Given the description of an element on the screen output the (x, y) to click on. 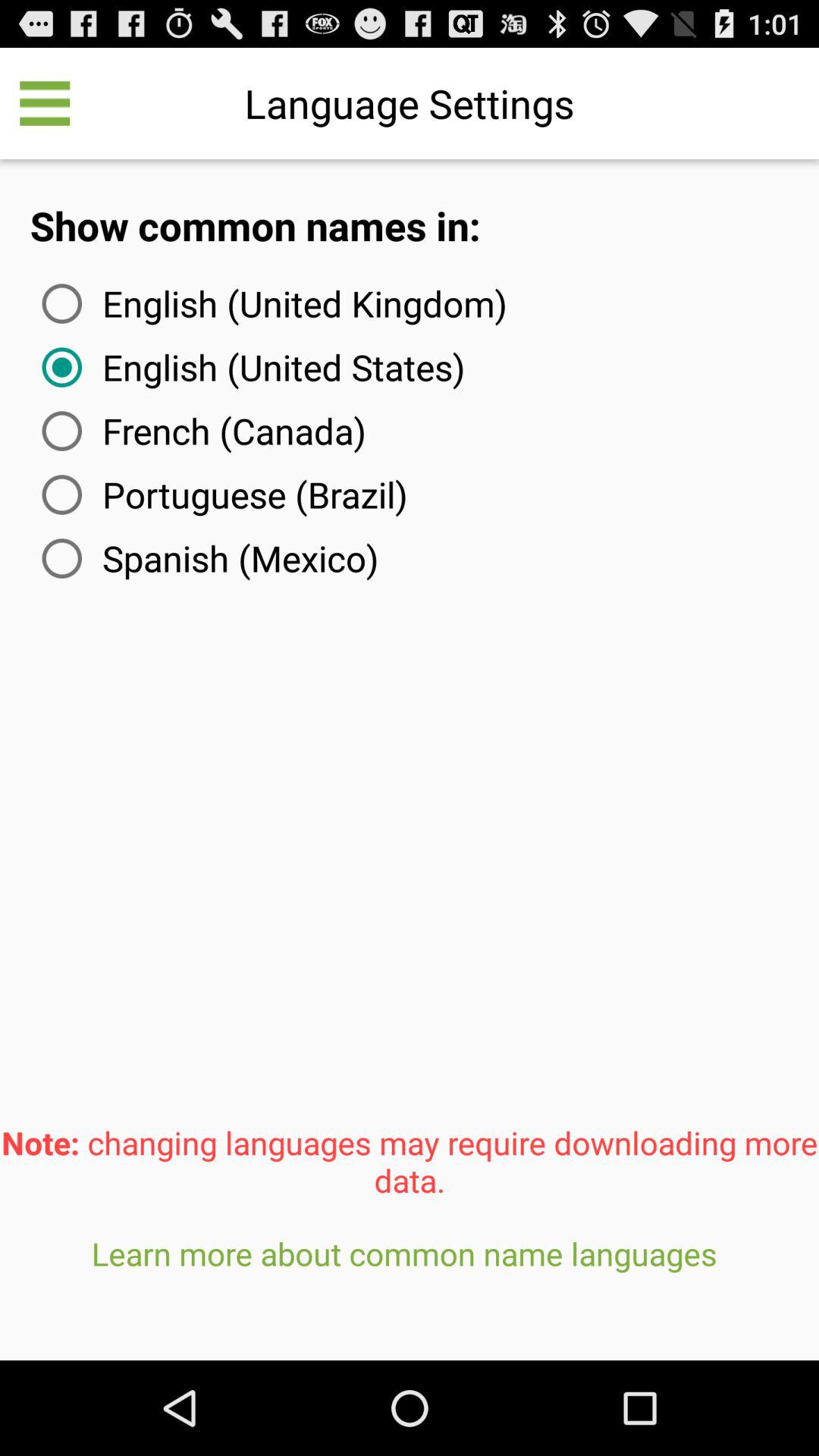
launch the item above spanish (mexico) item (221, 494)
